Given the description of an element on the screen output the (x, y) to click on. 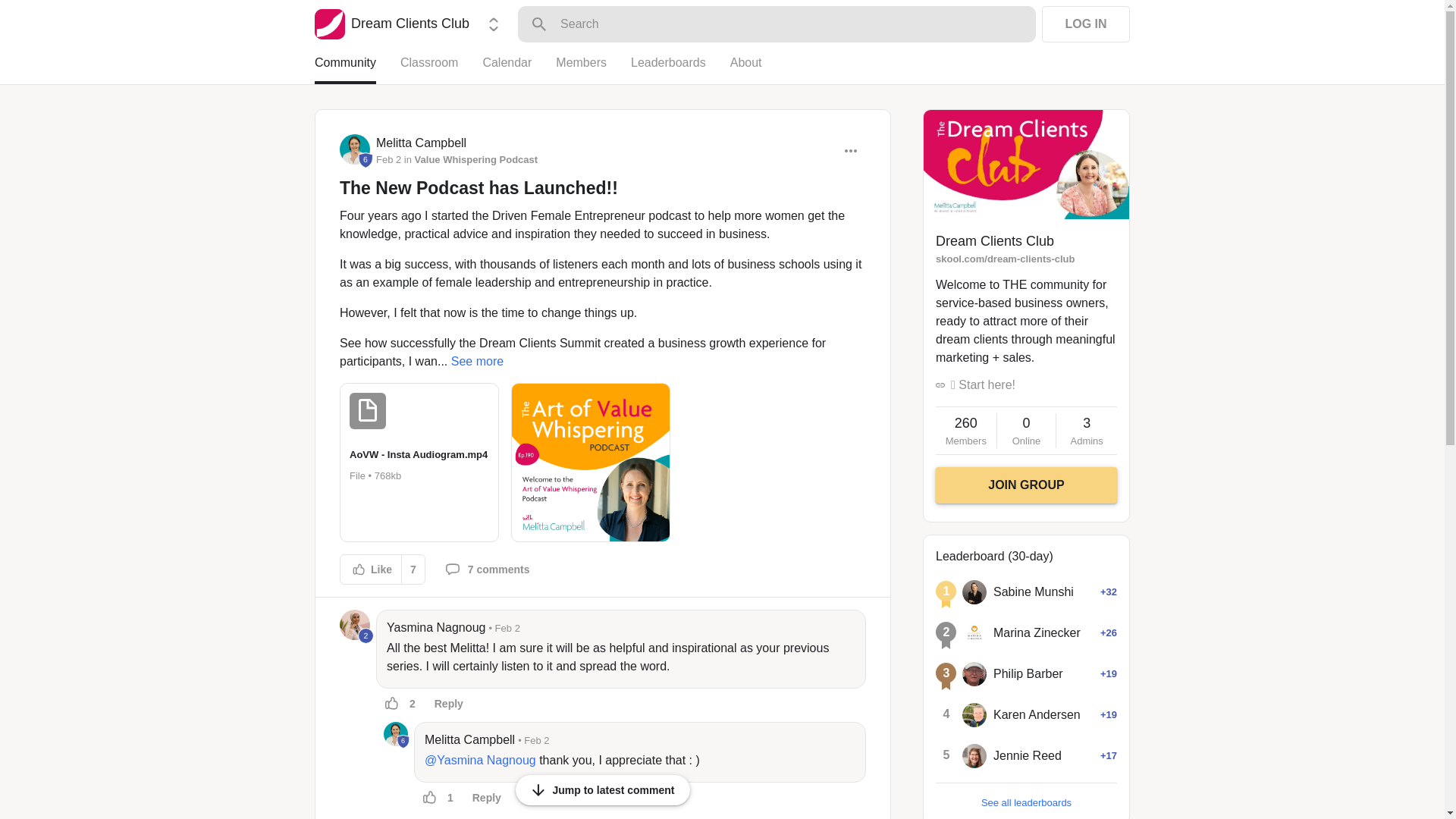
Yasmina Nagnoug (435, 628)
Calendar (518, 69)
Philip Barber (974, 673)
Dream Clients Club (391, 23)
Marina Zinecker (974, 632)
Dream Clients Club (329, 24)
Reply (449, 703)
Members (593, 69)
LOG IN (1085, 23)
Classroom (440, 69)
6 (403, 741)
Karen Andersen (974, 714)
6 (395, 733)
Community (357, 69)
Like (370, 568)
